Given the description of an element on the screen output the (x, y) to click on. 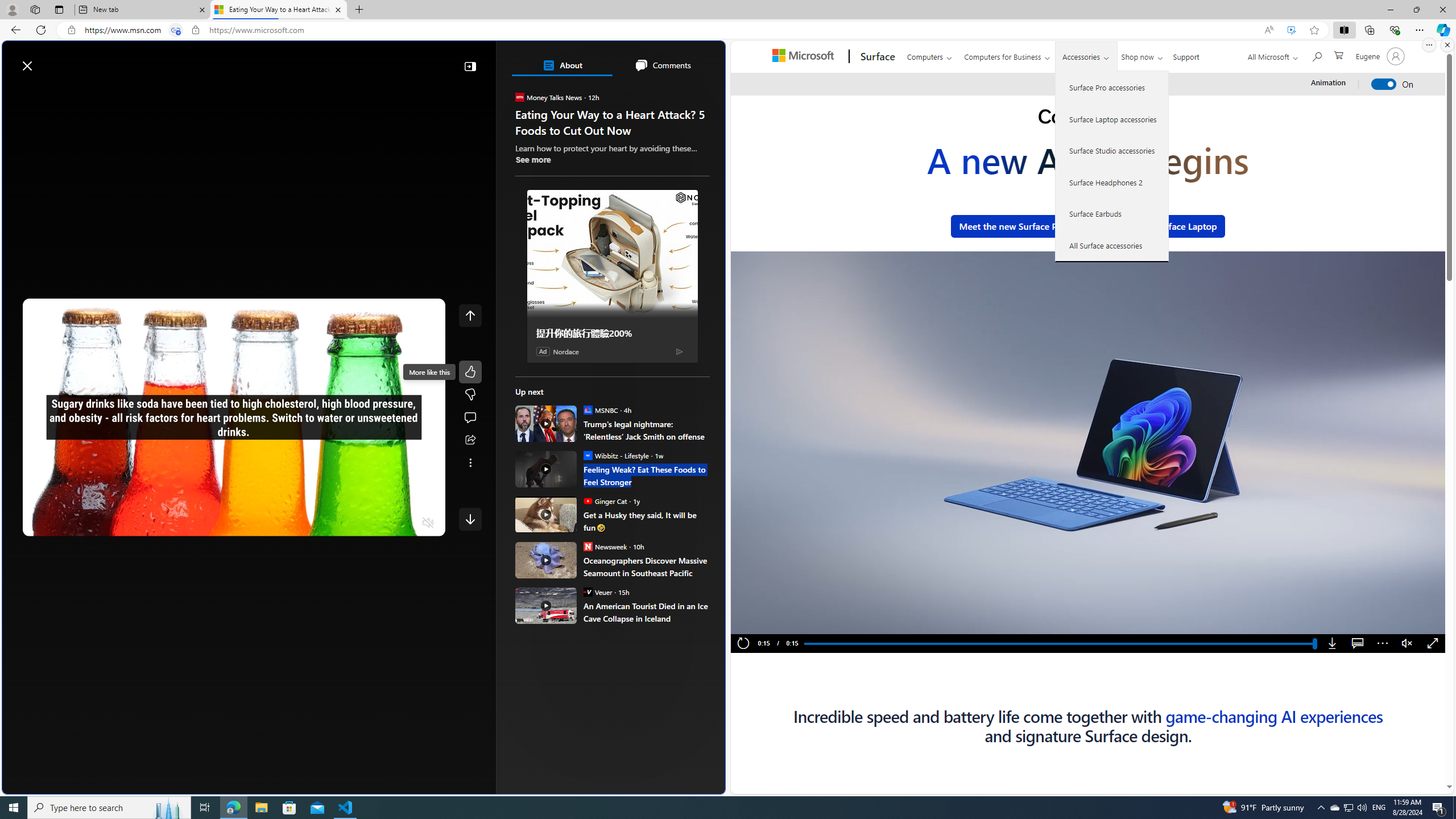
Enhance video (1291, 29)
Pause (762, 621)
Support (1185, 54)
Replay (742, 643)
All Surface accessories (1112, 245)
